Given the description of an element on the screen output the (x, y) to click on. 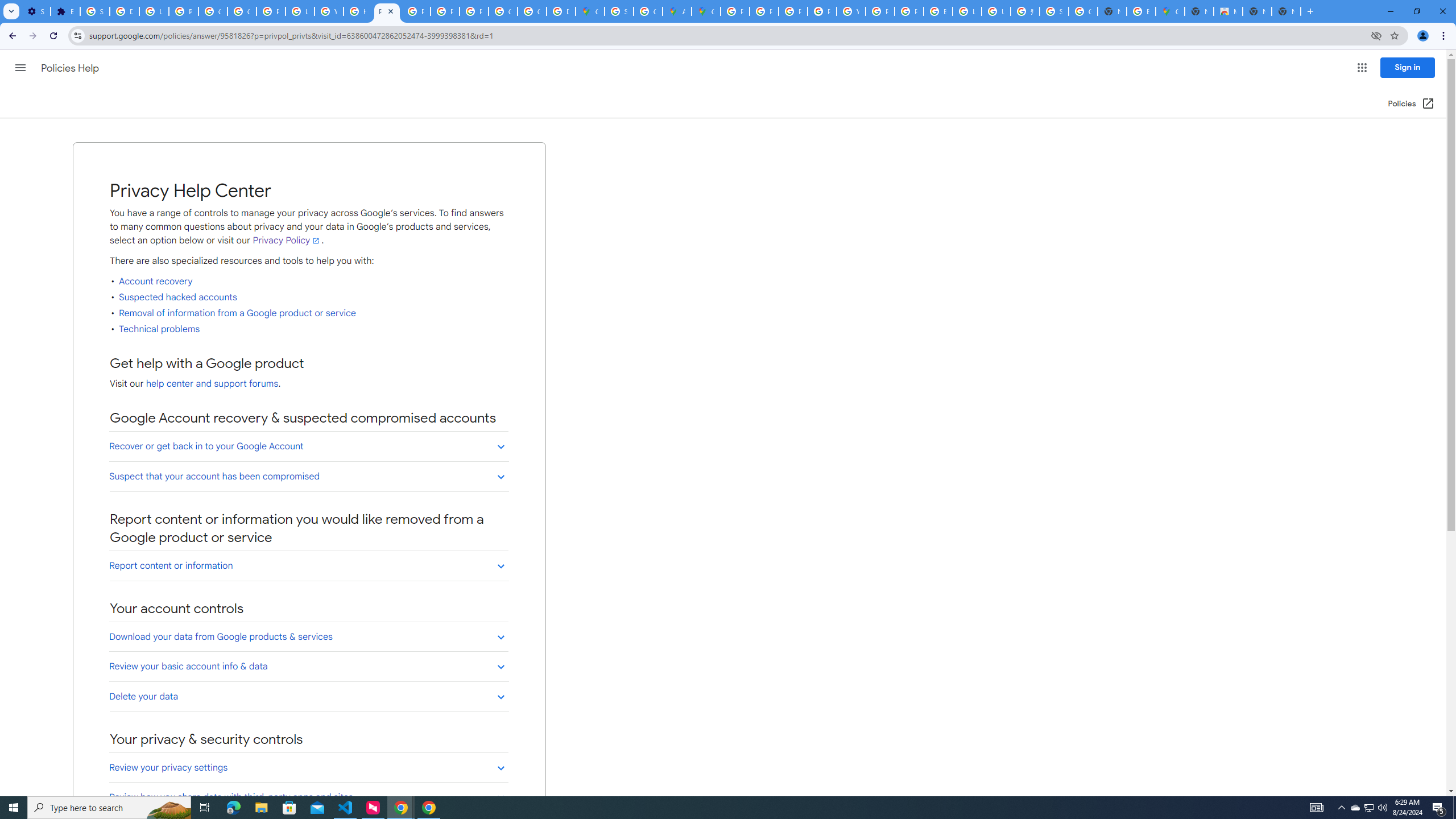
Delete photos & videos - Computer - Google Photos Help (124, 11)
Report content or information (308, 565)
Sign in - Google Accounts (619, 11)
Policy Accountability and Transparency - Transparency Center (734, 11)
https://scholar.google.com/ (357, 11)
Explore new street-level details - Google Maps Help (1140, 11)
Create your Google Account (648, 11)
